Given the description of an element on the screen output the (x, y) to click on. 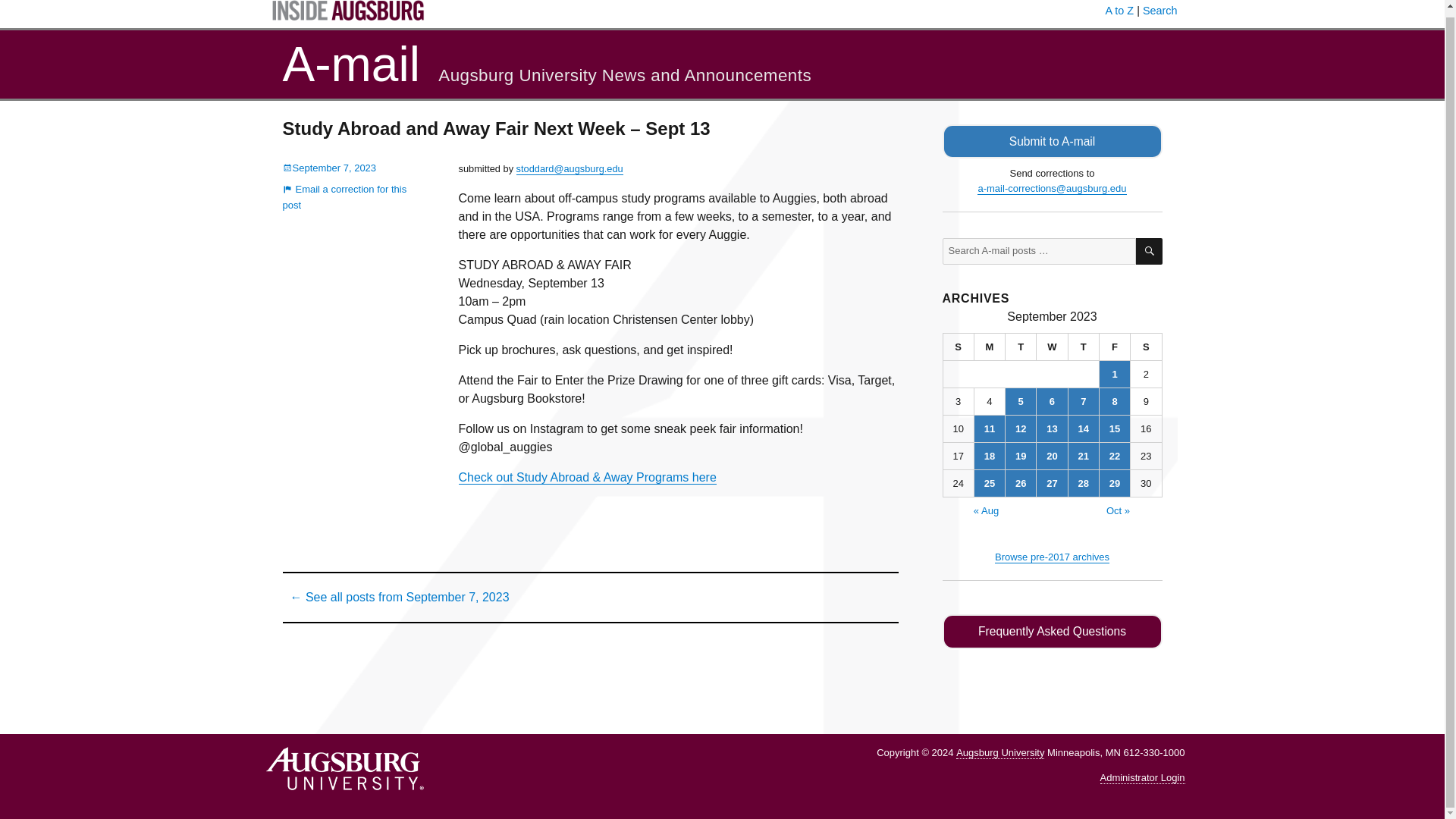
Monday (990, 347)
A to Z (1119, 10)
19 (1020, 456)
12 (1020, 428)
7 (1083, 401)
15 (1114, 428)
Search (1159, 10)
6 (1051, 401)
20 (1051, 456)
21 (1083, 456)
